Given the description of an element on the screen output the (x, y) to click on. 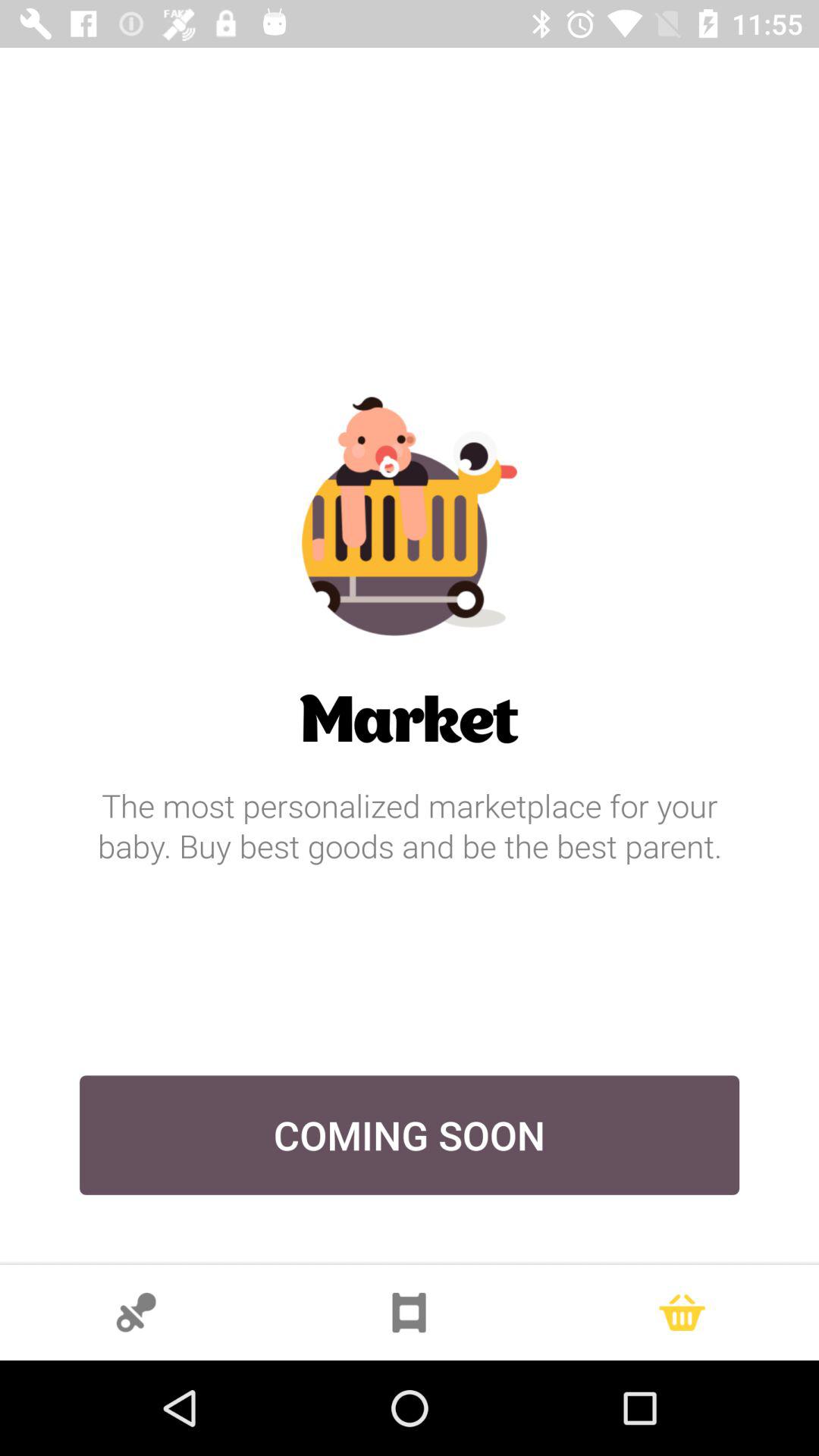
jump until coming soon item (409, 1134)
